Given the description of an element on the screen output the (x, y) to click on. 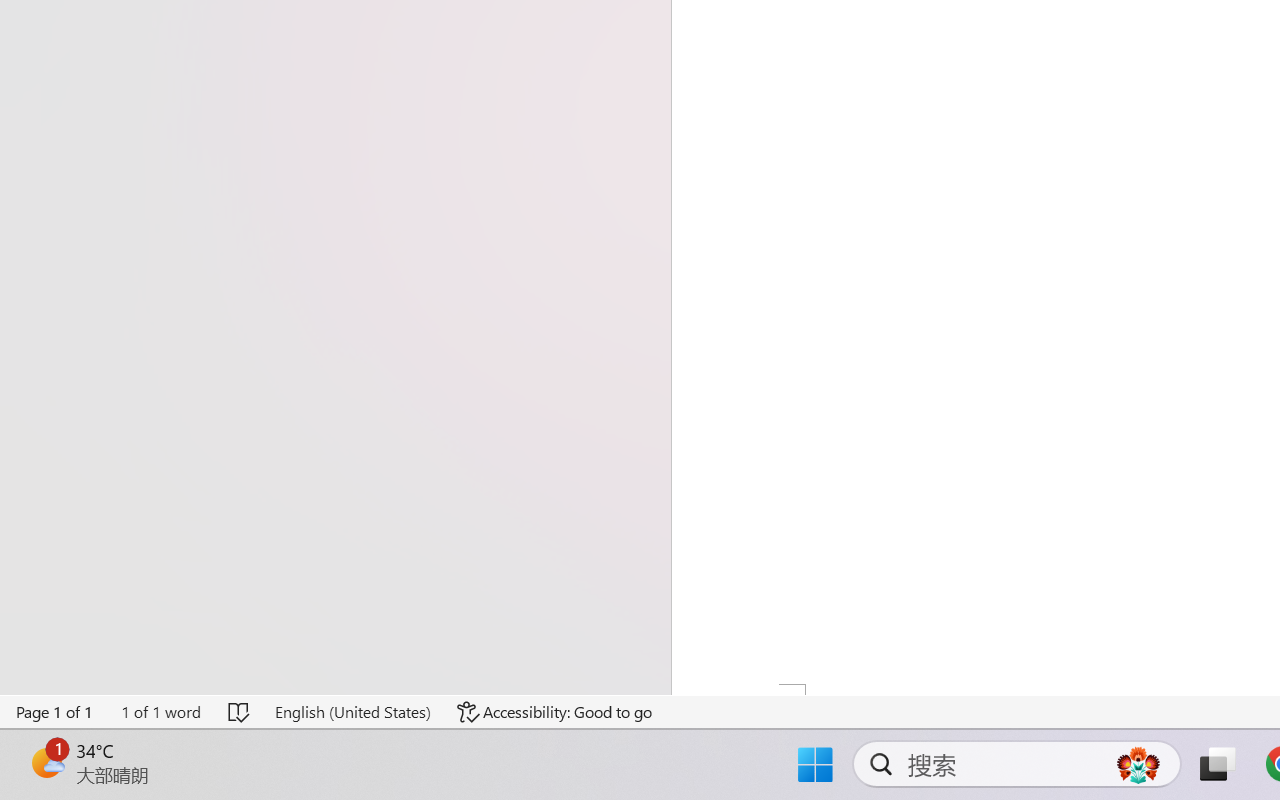
Page Number Page 1 of 1 (55, 712)
